Given the description of an element on the screen output the (x, y) to click on. 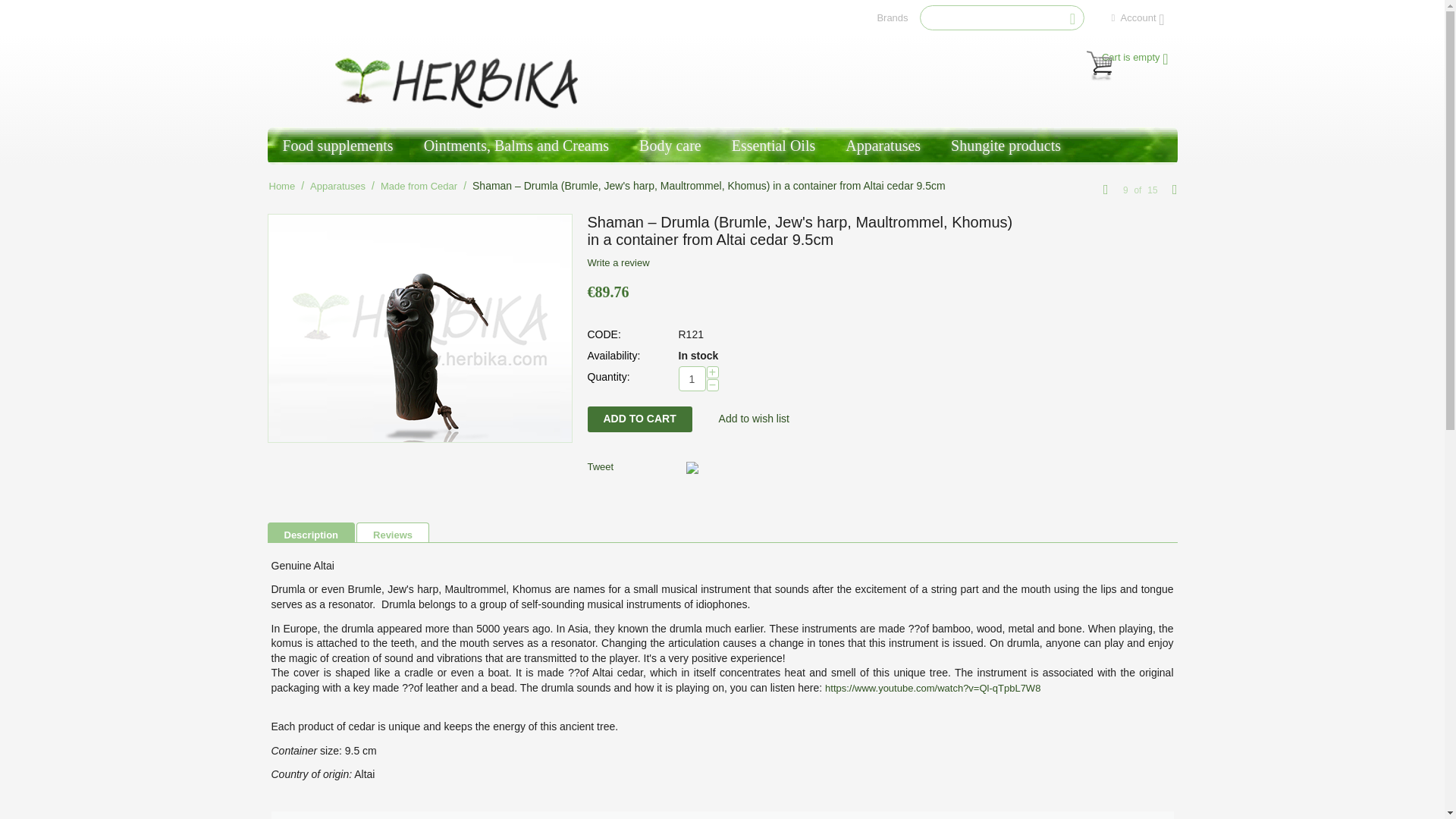
  Account (1138, 17)
Search (1002, 17)
Food supplements (336, 145)
Brands (891, 17)
Cart is empty (1127, 57)
Herbika.com (459, 81)
1 (691, 378)
